Given the description of an element on the screen output the (x, y) to click on. 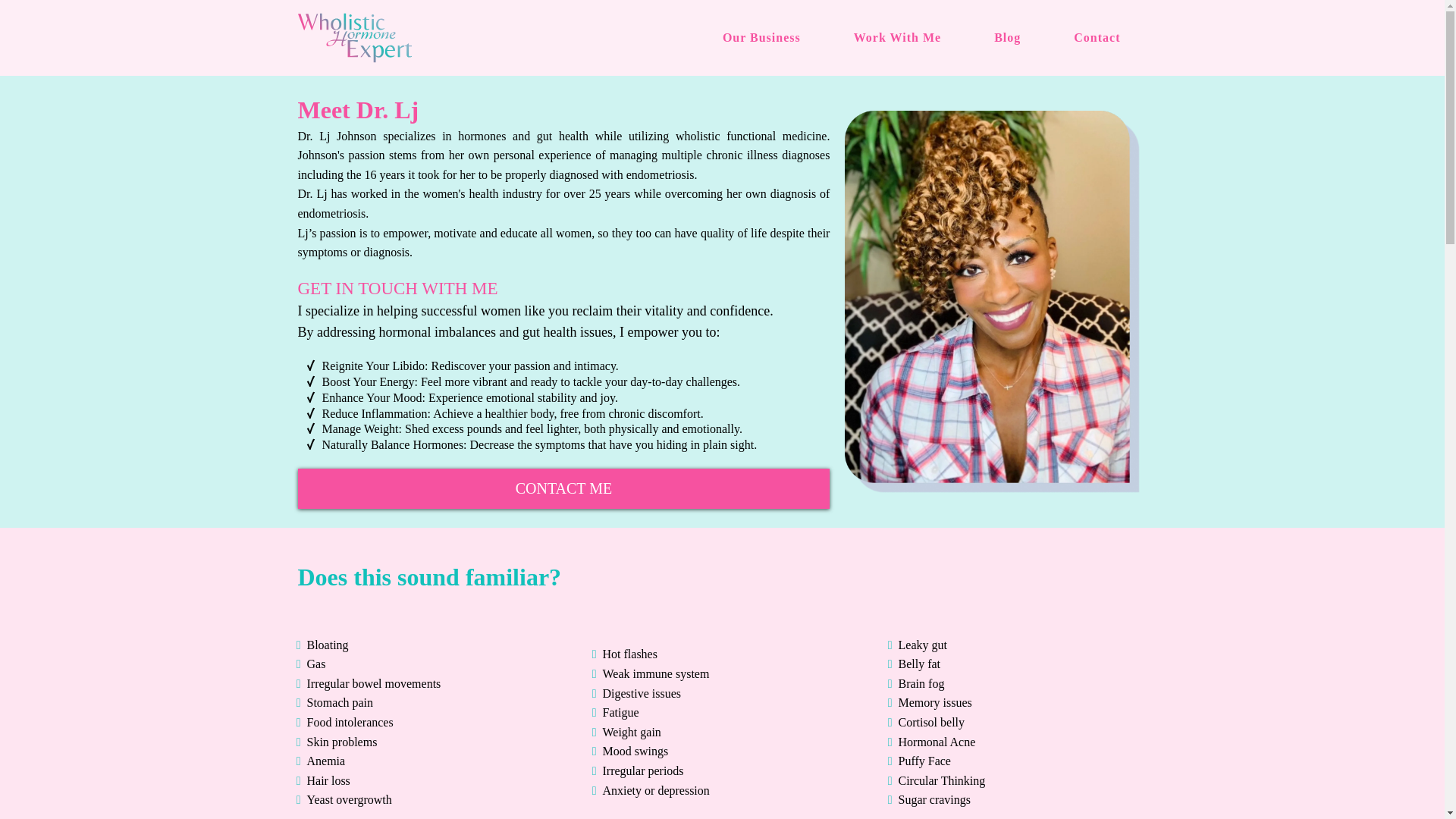
Blog (1007, 37)
Our Business (761, 37)
Contact (1096, 37)
CONTACT ME (563, 488)
Work With Me (897, 37)
